Given the description of an element on the screen output the (x, y) to click on. 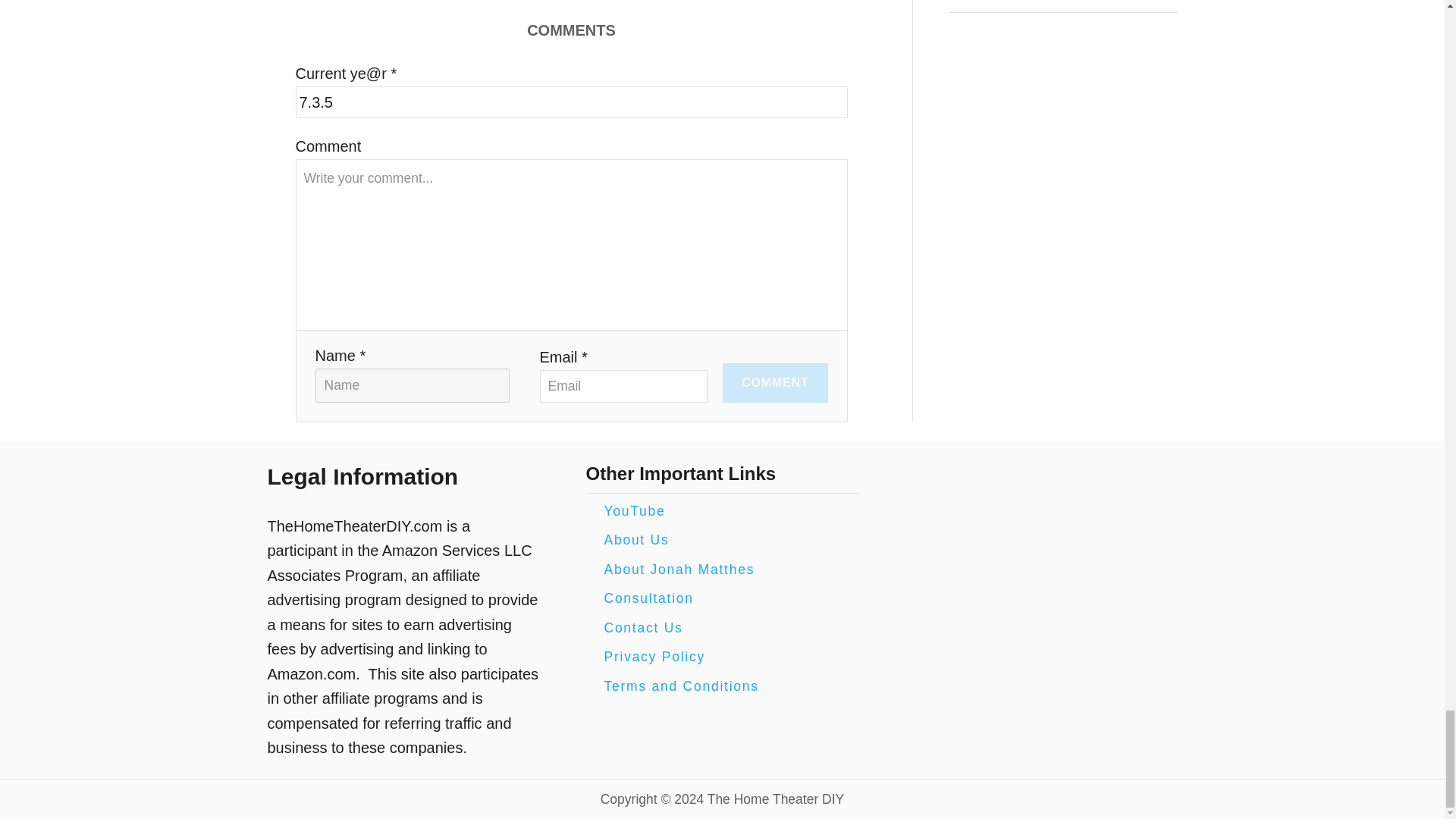
7.3.5 (571, 102)
